Given the description of an element on the screen output the (x, y) to click on. 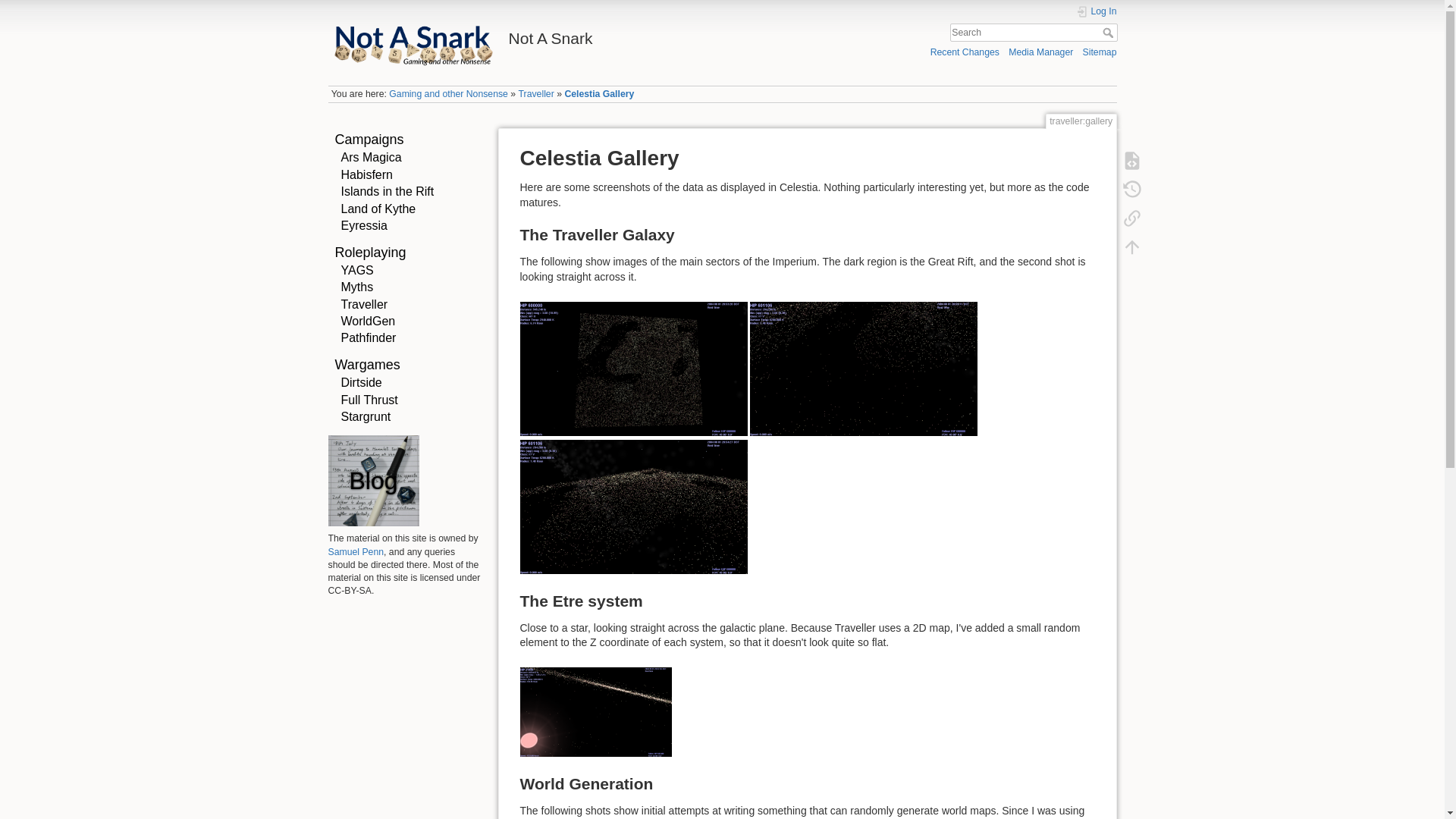
traveller:gallery (598, 93)
Recent Changes (964, 51)
Land of Kythe (378, 208)
Celestia Gallery (598, 93)
Ars Magica (370, 156)
traveller:snapshots:allworlds2.png (862, 367)
Traveller (536, 93)
Not A Snark (520, 34)
Blog (373, 480)
Media Manager (1041, 51)
